Given the description of an element on the screen output the (x, y) to click on. 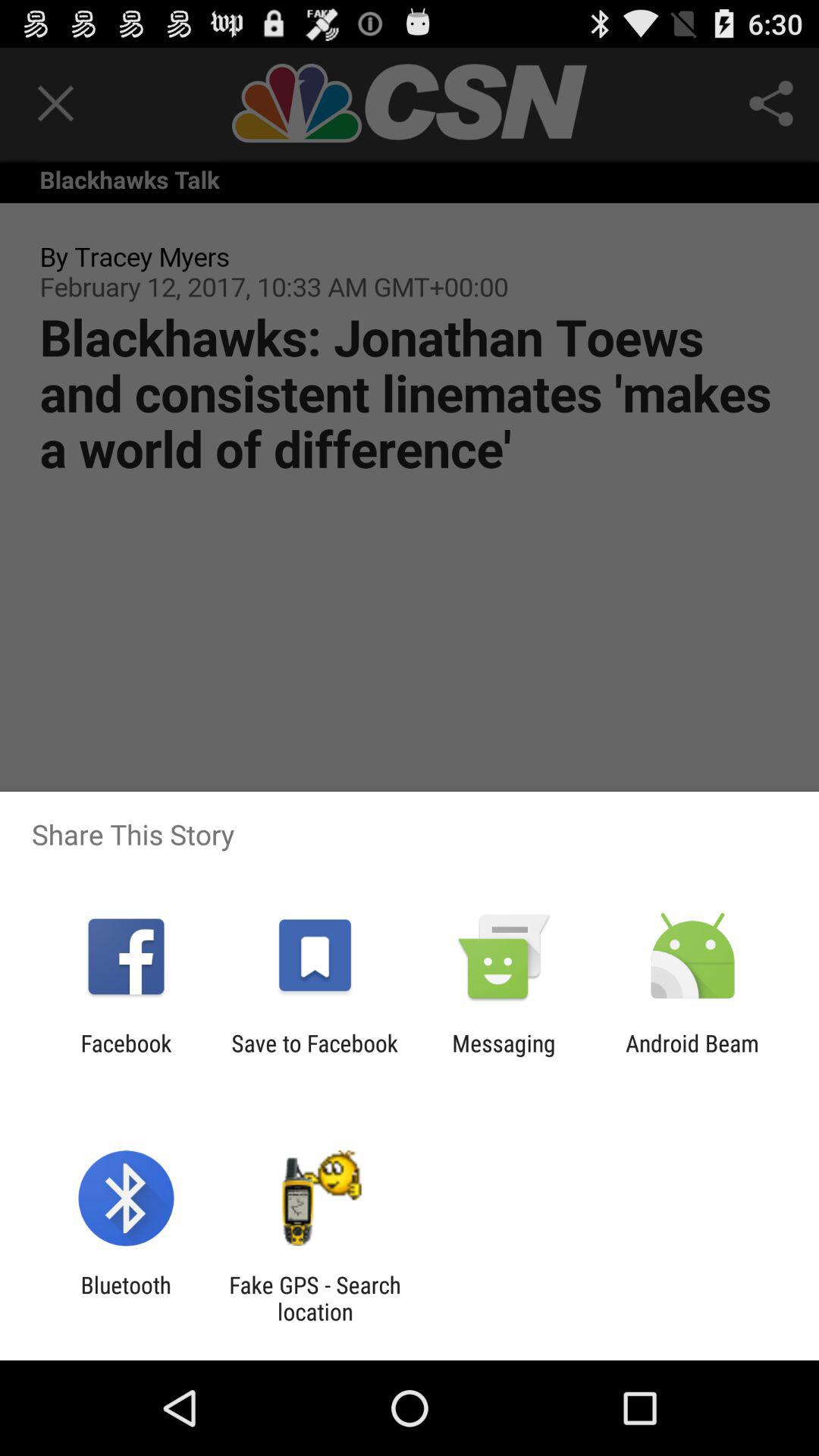
scroll to save to facebook app (314, 1056)
